Given the description of an element on the screen output the (x, y) to click on. 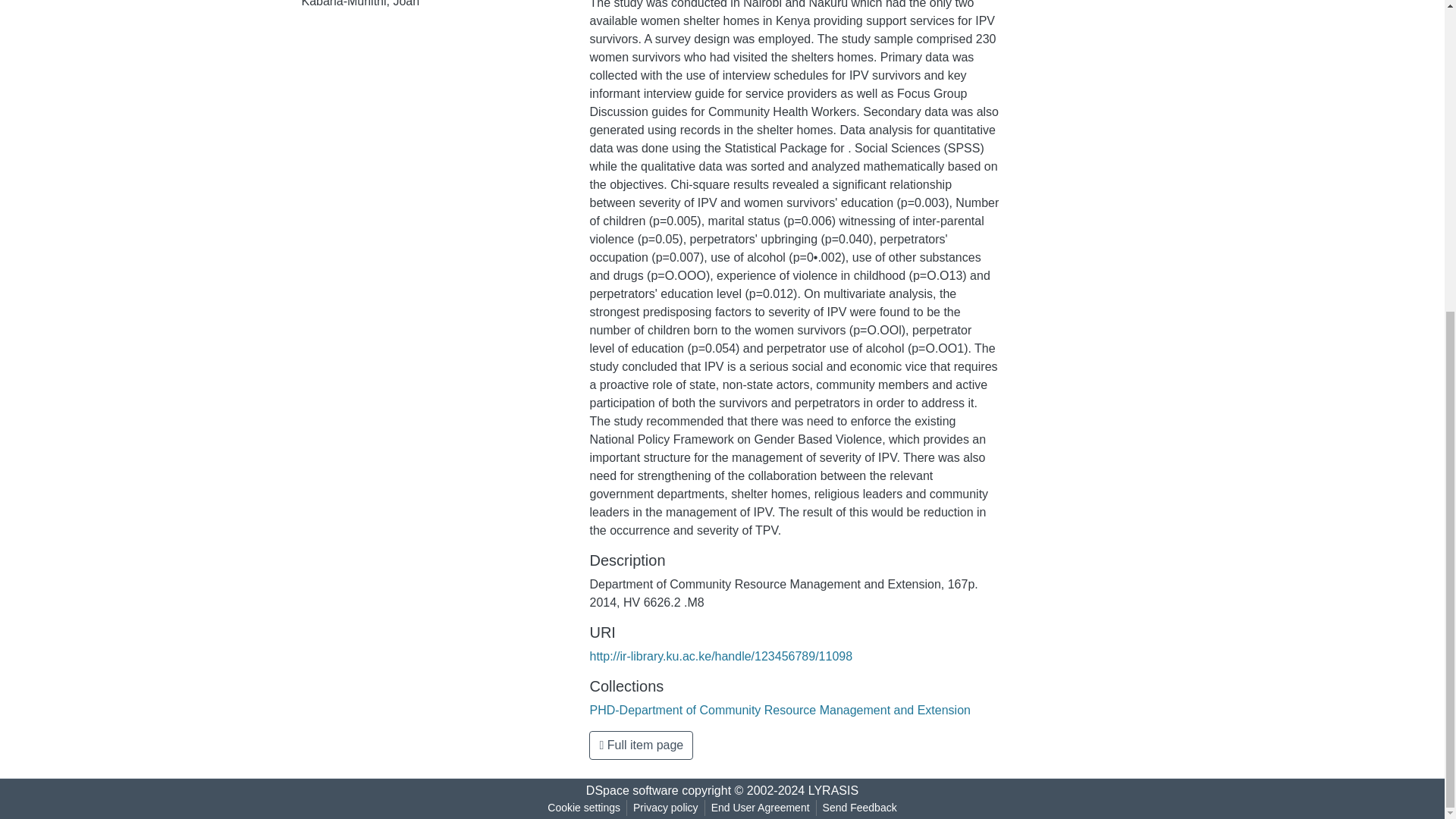
Cookie settings (583, 807)
DSpace software (632, 789)
Privacy policy (665, 807)
Full item page (641, 745)
LYRASIS (833, 789)
Send Feedback (859, 807)
End User Agreement (759, 807)
